Given the description of an element on the screen output the (x, y) to click on. 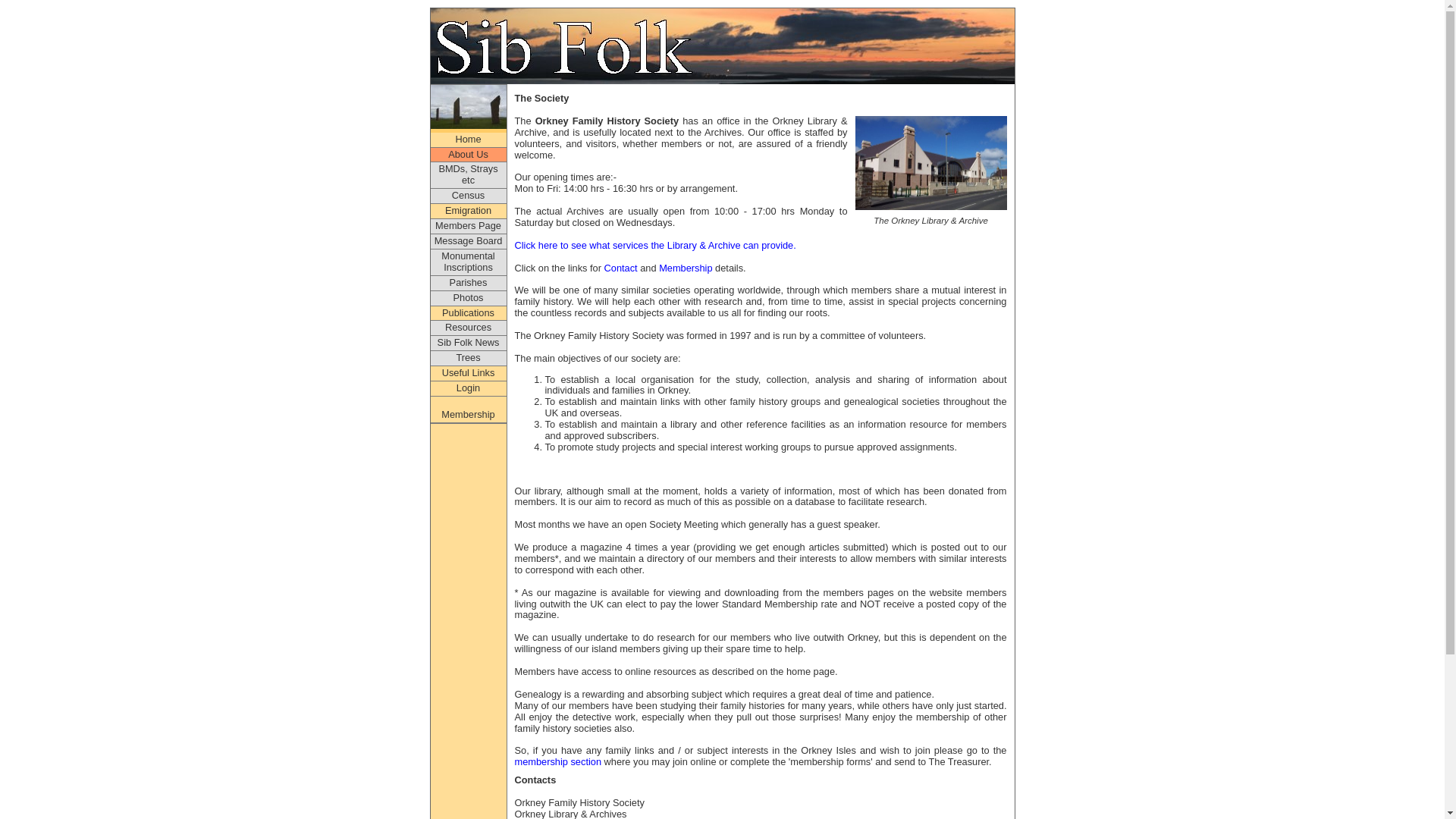
Parishes (468, 283)
Login (468, 388)
Sib Folk News (468, 343)
Photos (468, 298)
BMDs, Strays etc (468, 175)
Membership (685, 267)
Resources (468, 328)
Members Page (468, 226)
About Us (468, 155)
Useful Links (468, 373)
